Given the description of an element on the screen output the (x, y) to click on. 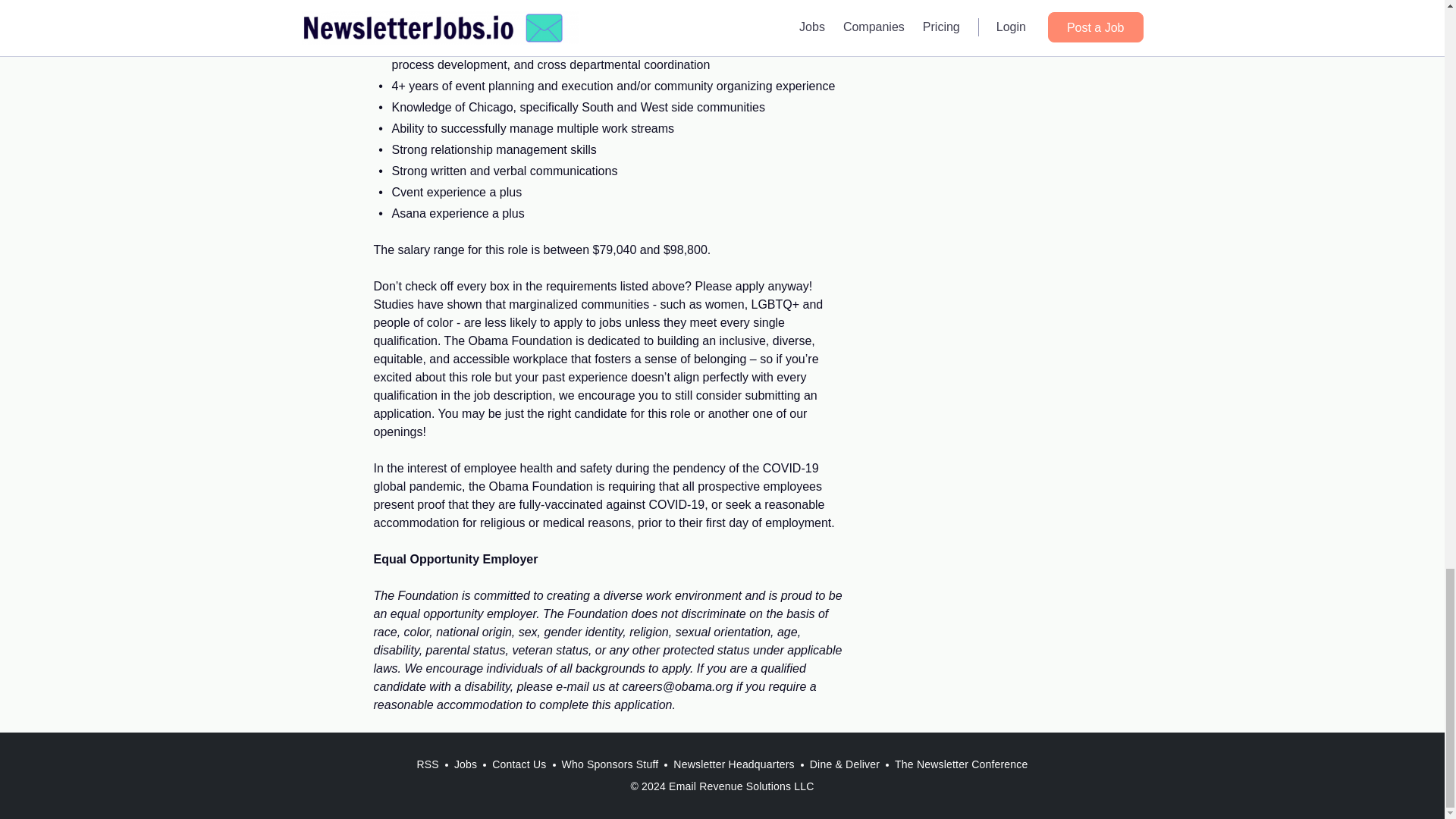
Who Sponsors Stuff (609, 764)
Contact Us (518, 764)
RSS (427, 764)
The Newsletter Conference (960, 764)
Jobs (465, 764)
Newsletter Headquarters (733, 764)
